Given the description of an element on the screen output the (x, y) to click on. 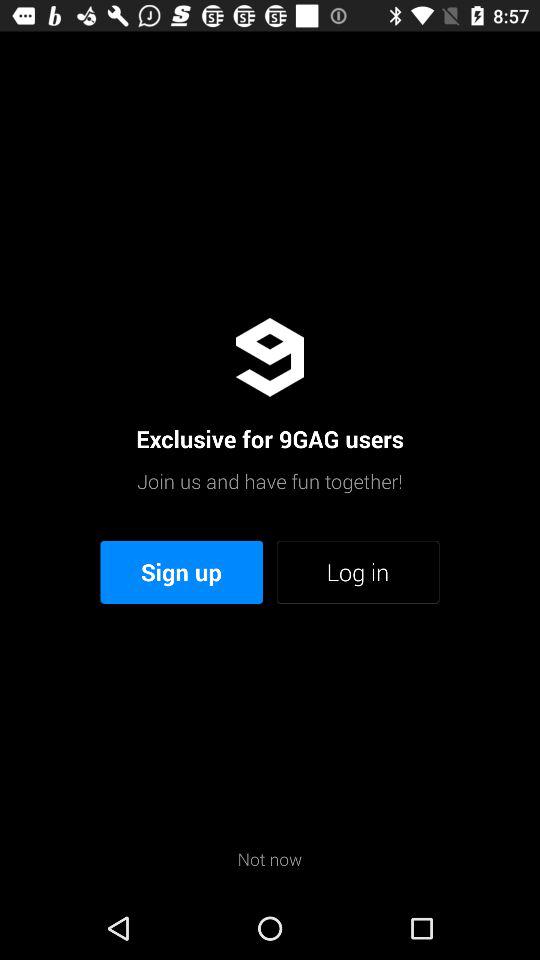
launch icon below join us and item (357, 571)
